Given the description of an element on the screen output the (x, y) to click on. 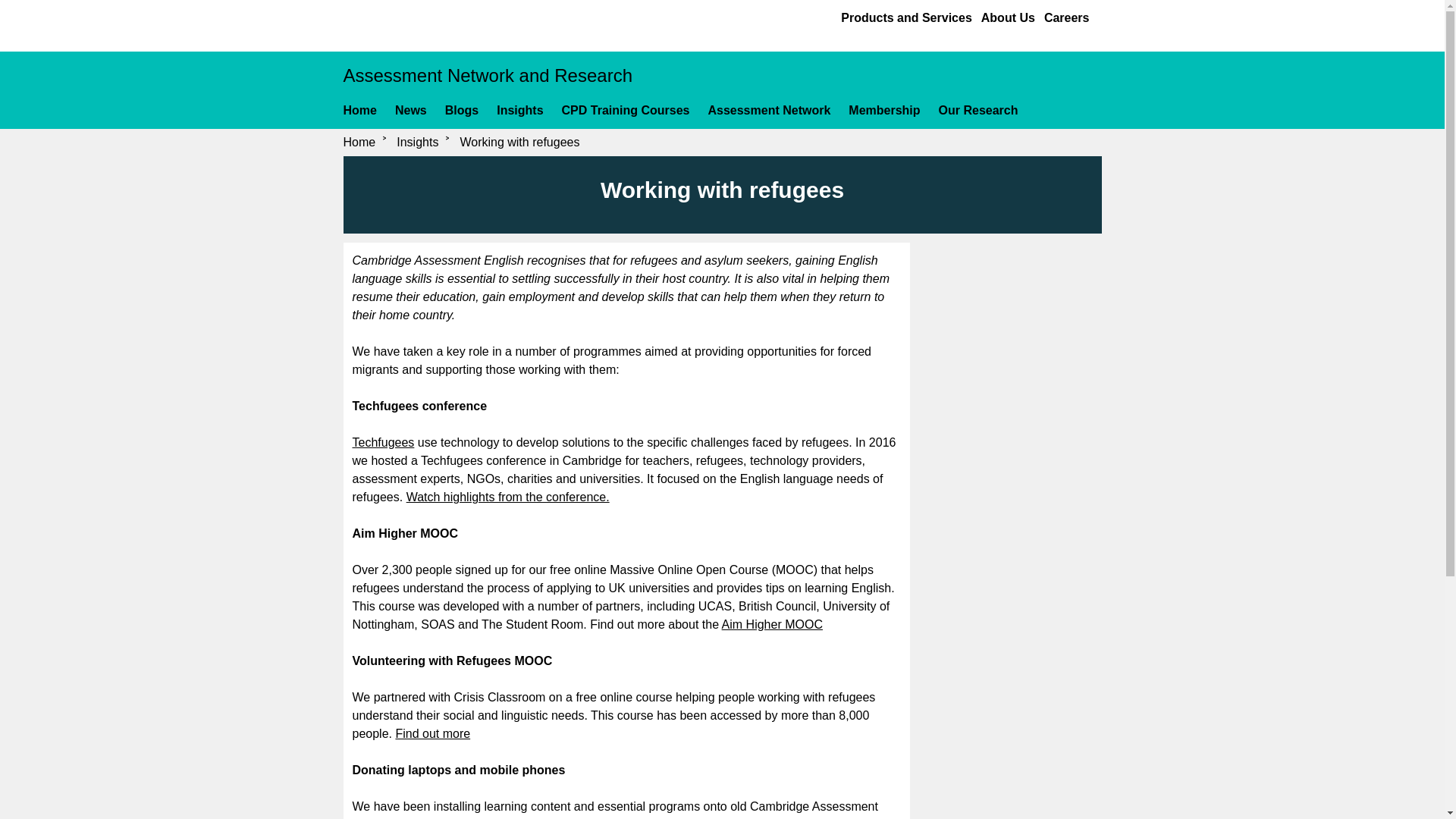
Careers (1066, 18)
Cambridge (403, 22)
Products and Services (906, 18)
About Us (1008, 18)
Products and Services (906, 18)
About Us (1008, 18)
